Given the description of an element on the screen output the (x, y) to click on. 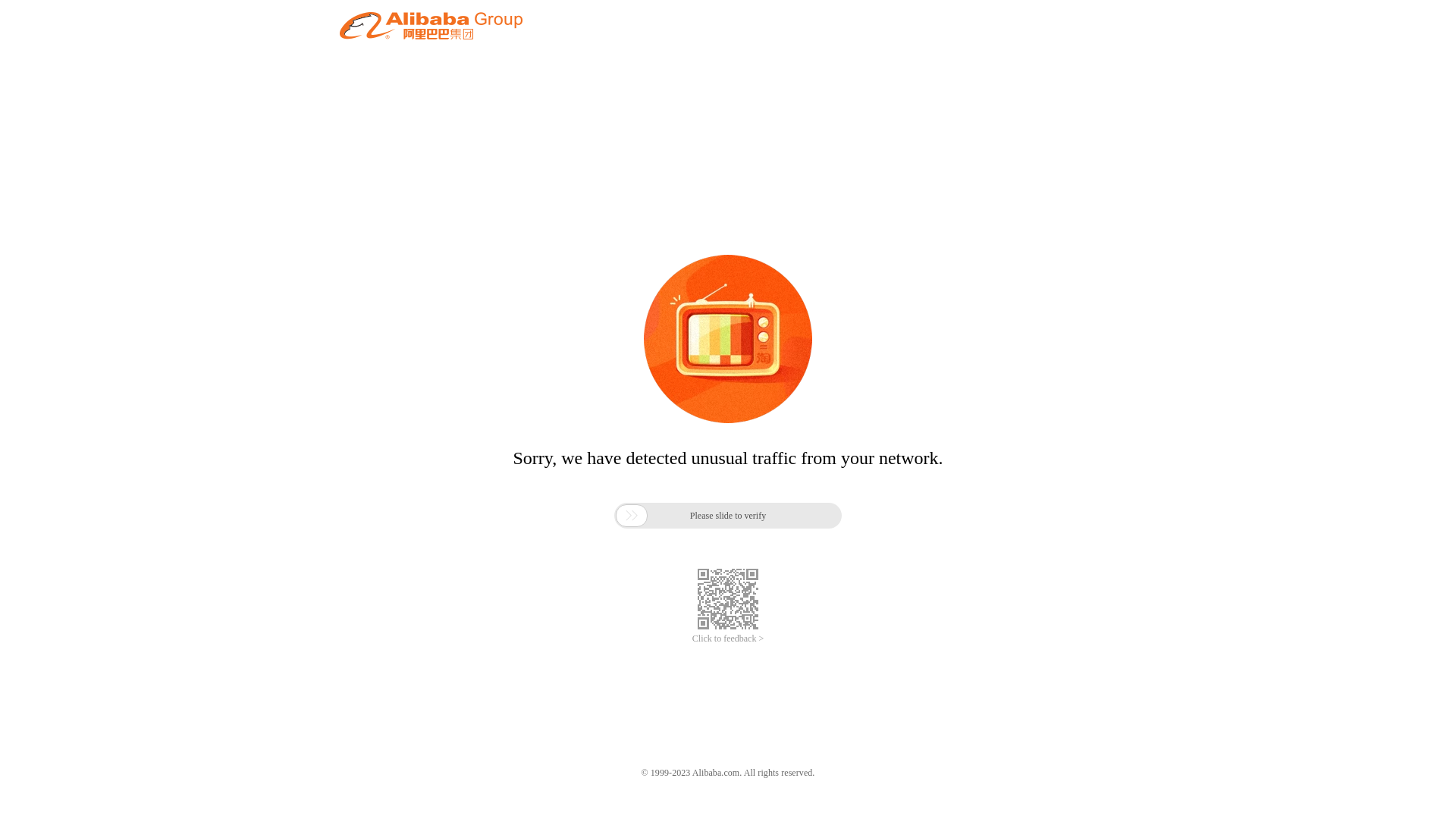
Click to feedback > Element type: text (727, 638)
